Given the description of an element on the screen output the (x, y) to click on. 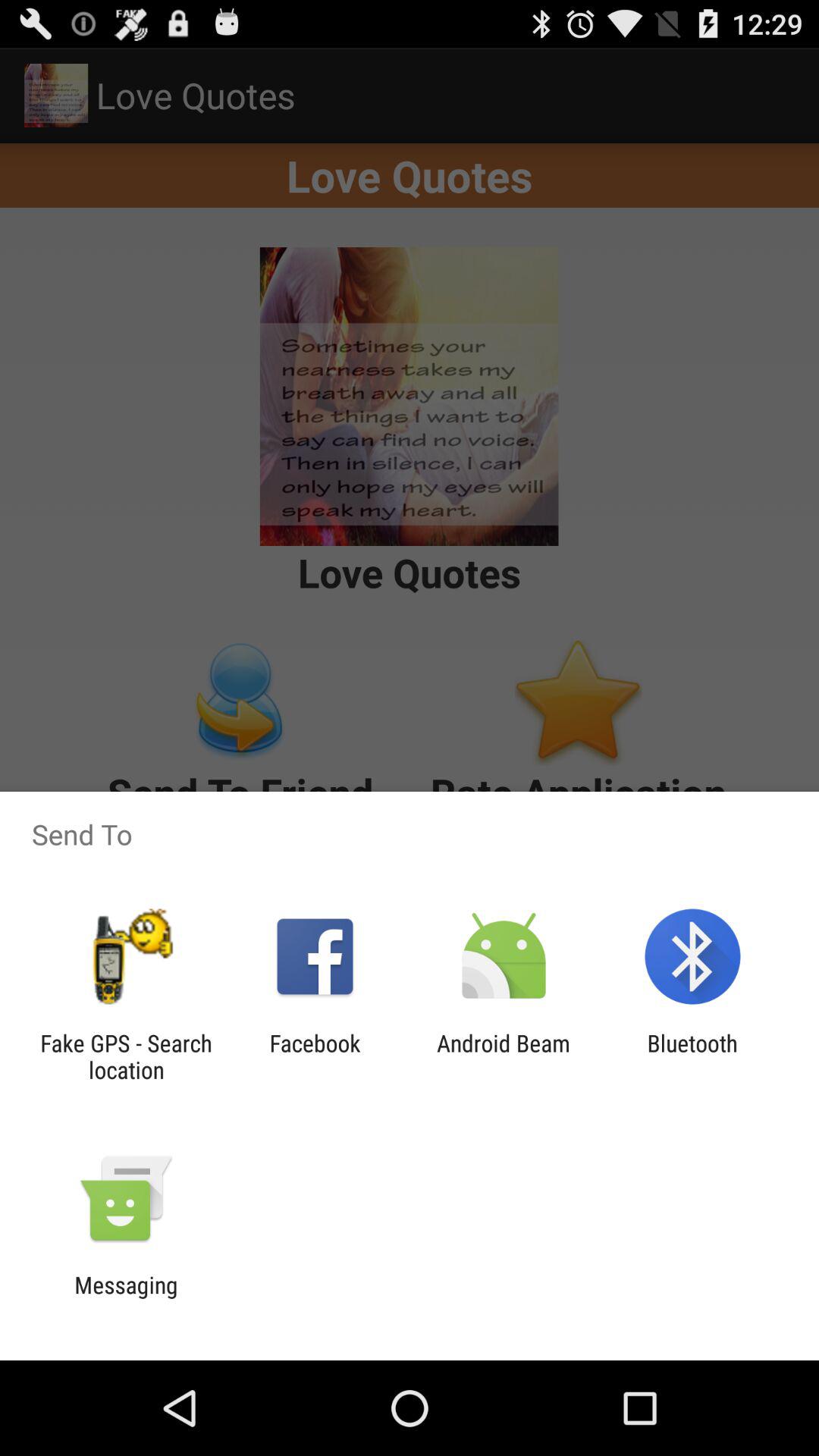
tap fake gps search icon (125, 1056)
